Given the description of an element on the screen output the (x, y) to click on. 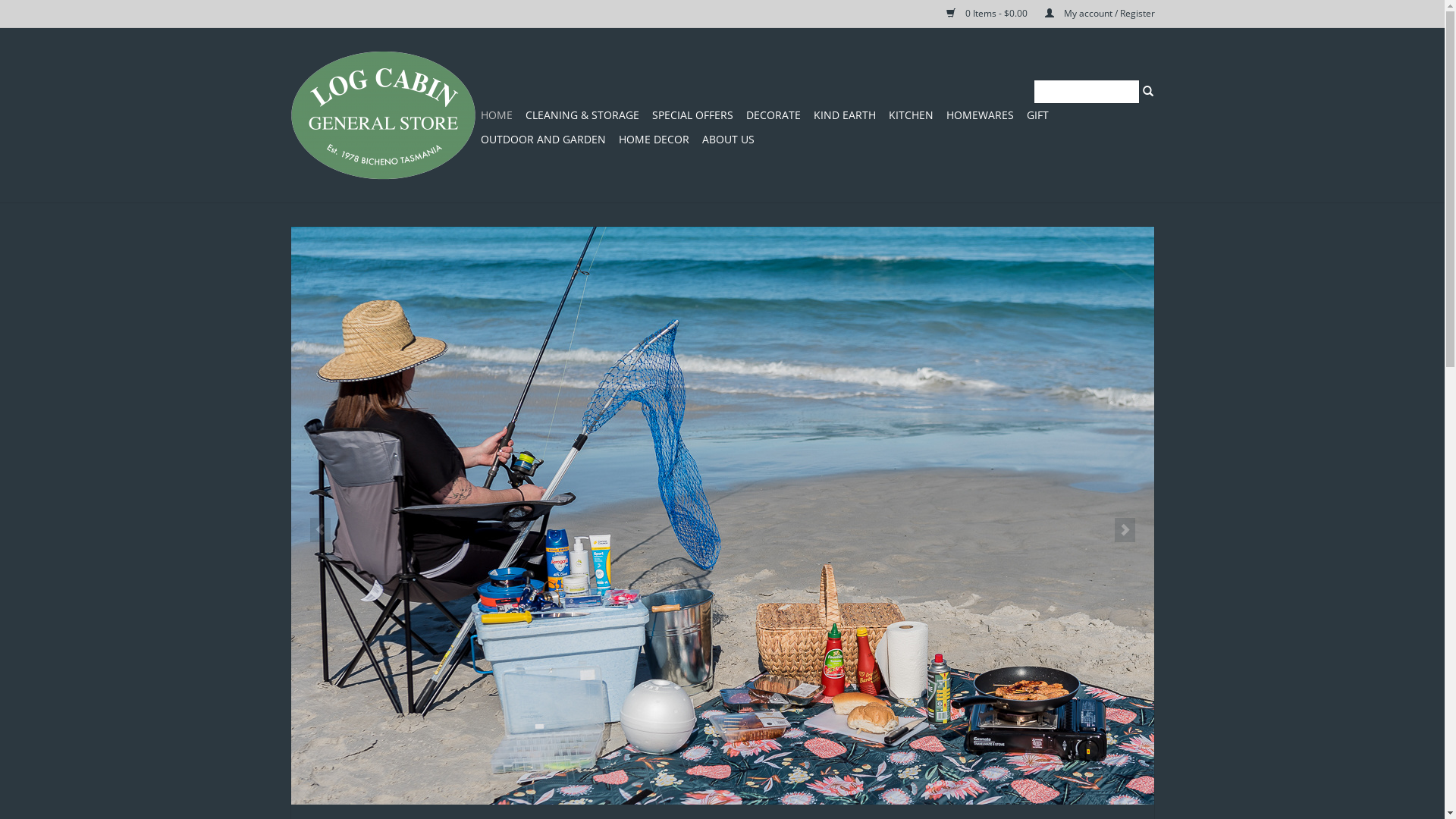
GIFT Element type: text (1037, 115)
ABOUT US Element type: text (728, 139)
Search Element type: hover (1147, 89)
My account / Register Element type: text (1091, 12)
HOME DECOR Element type: text (653, 139)
HOMEWARES Element type: text (979, 115)
Log Cabin General Store Element type: hover (382, 114)
CLEANING & STORAGE Element type: text (581, 115)
KIND EARTH Element type: text (843, 115)
OUTDOOR AND GARDEN Element type: text (543, 139)
HOME Element type: text (496, 115)
KITCHEN Element type: text (911, 115)
DECORATE Element type: text (773, 115)
Previous Element type: hover (319, 529)
0 Items - $0.00 Element type: text (980, 12)
Next Element type: hover (1124, 529)
SPECIAL OFFERS Element type: text (692, 115)
